Given the description of an element on the screen output the (x, y) to click on. 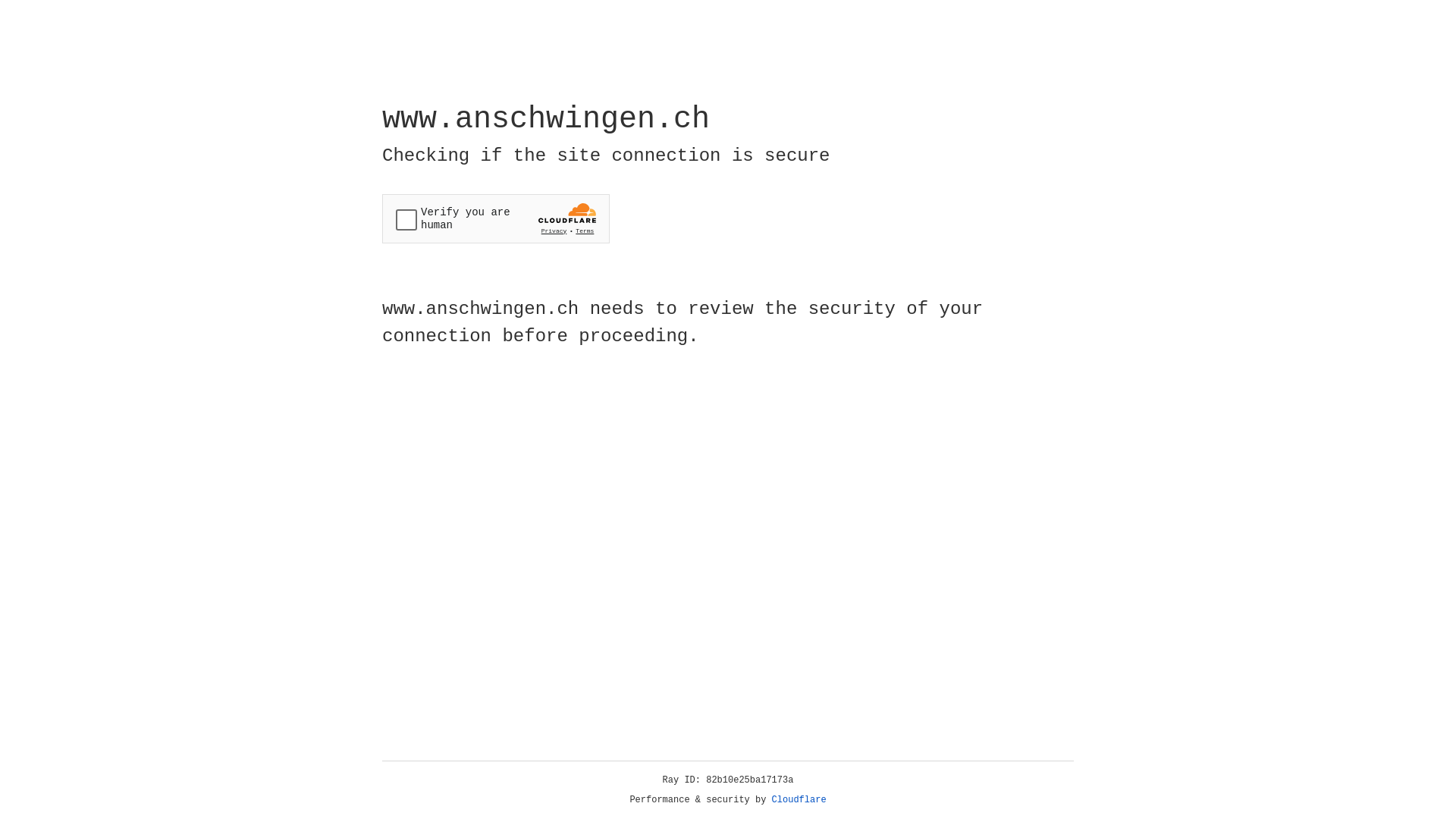
Cloudflare Element type: text (798, 799)
Widget containing a Cloudflare security challenge Element type: hover (495, 218)
